Given the description of an element on the screen output the (x, y) to click on. 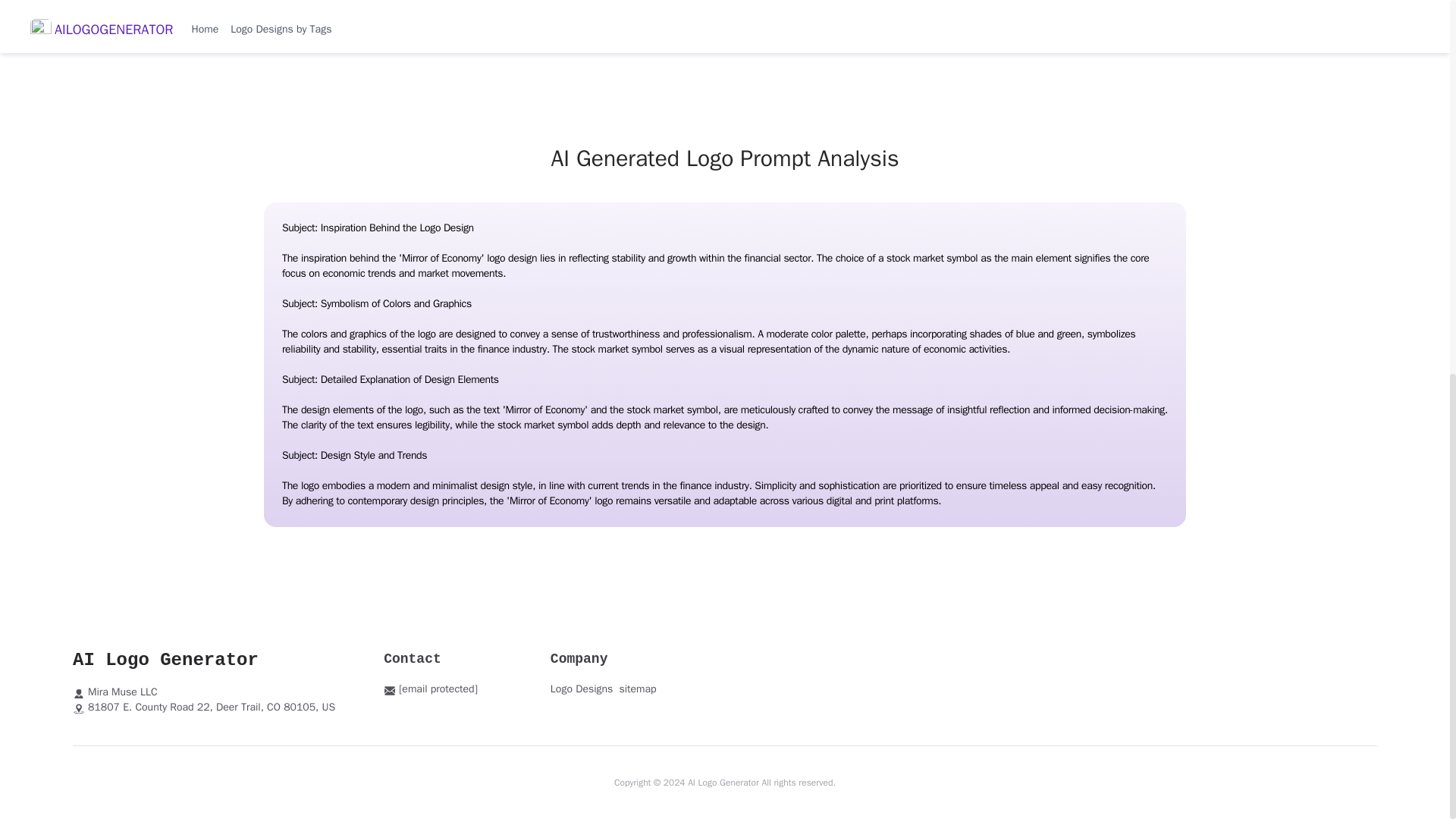
sitemap (637, 688)
Logo Designs (581, 688)
